Given the description of an element on the screen output the (x, y) to click on. 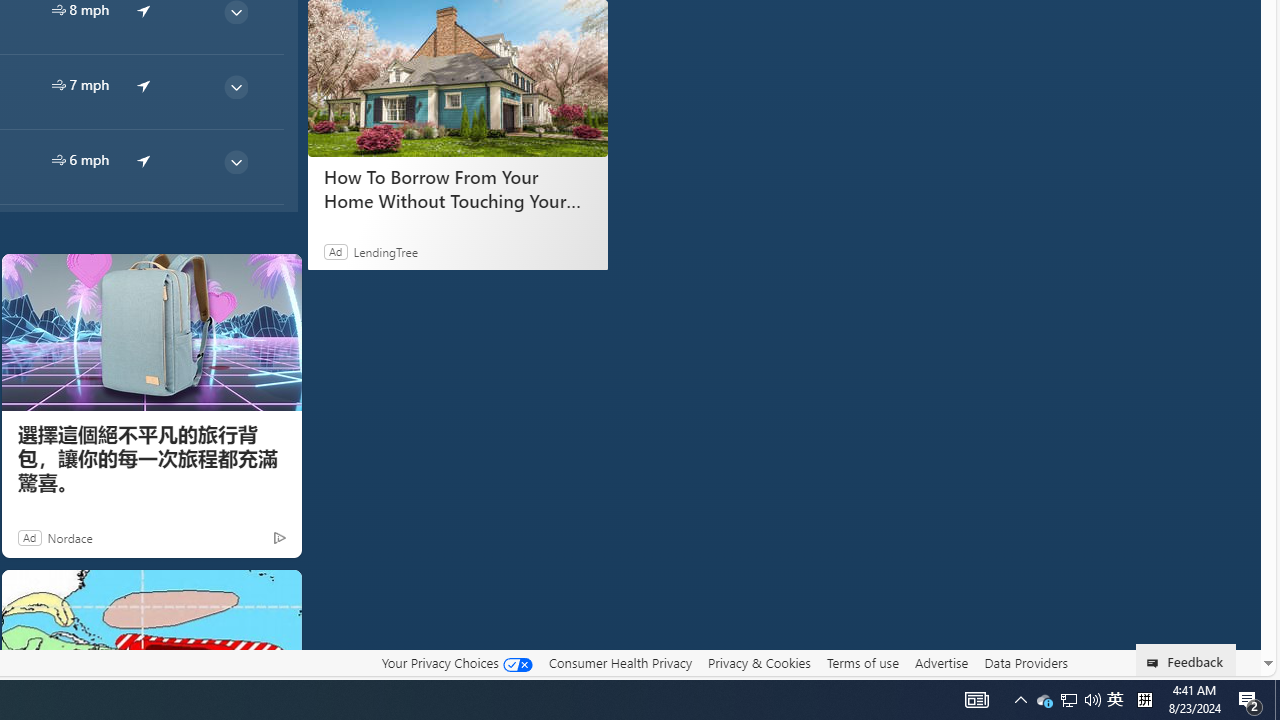
Data Providers (1025, 663)
Data Providers (1025, 662)
common/thinArrow (235, 161)
hourlyTable/wind (58, 159)
